Given the description of an element on the screen output the (x, y) to click on. 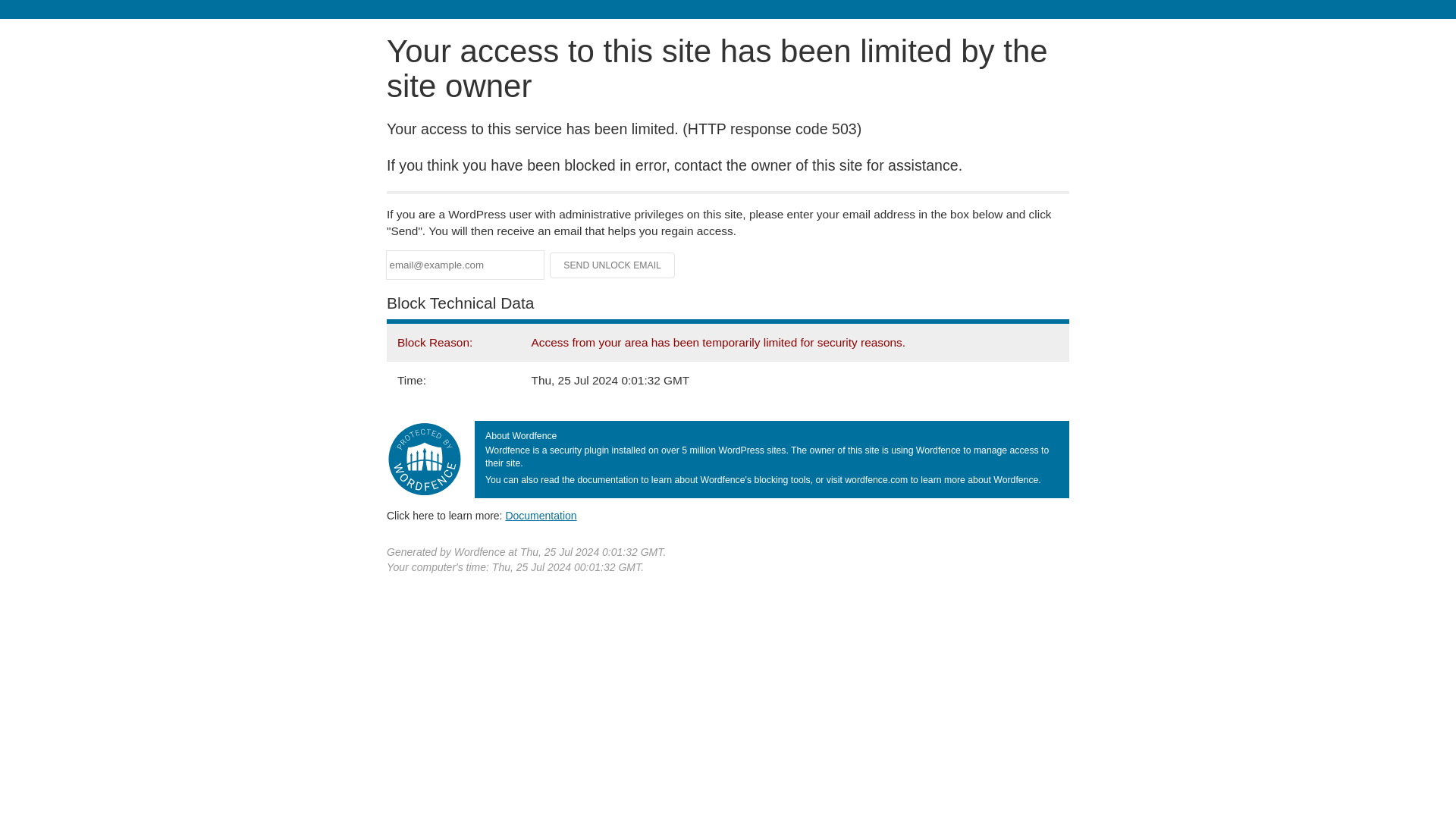
Documentation (540, 515)
Send Unlock Email (612, 265)
Send Unlock Email (612, 265)
